Given the description of an element on the screen output the (x, y) to click on. 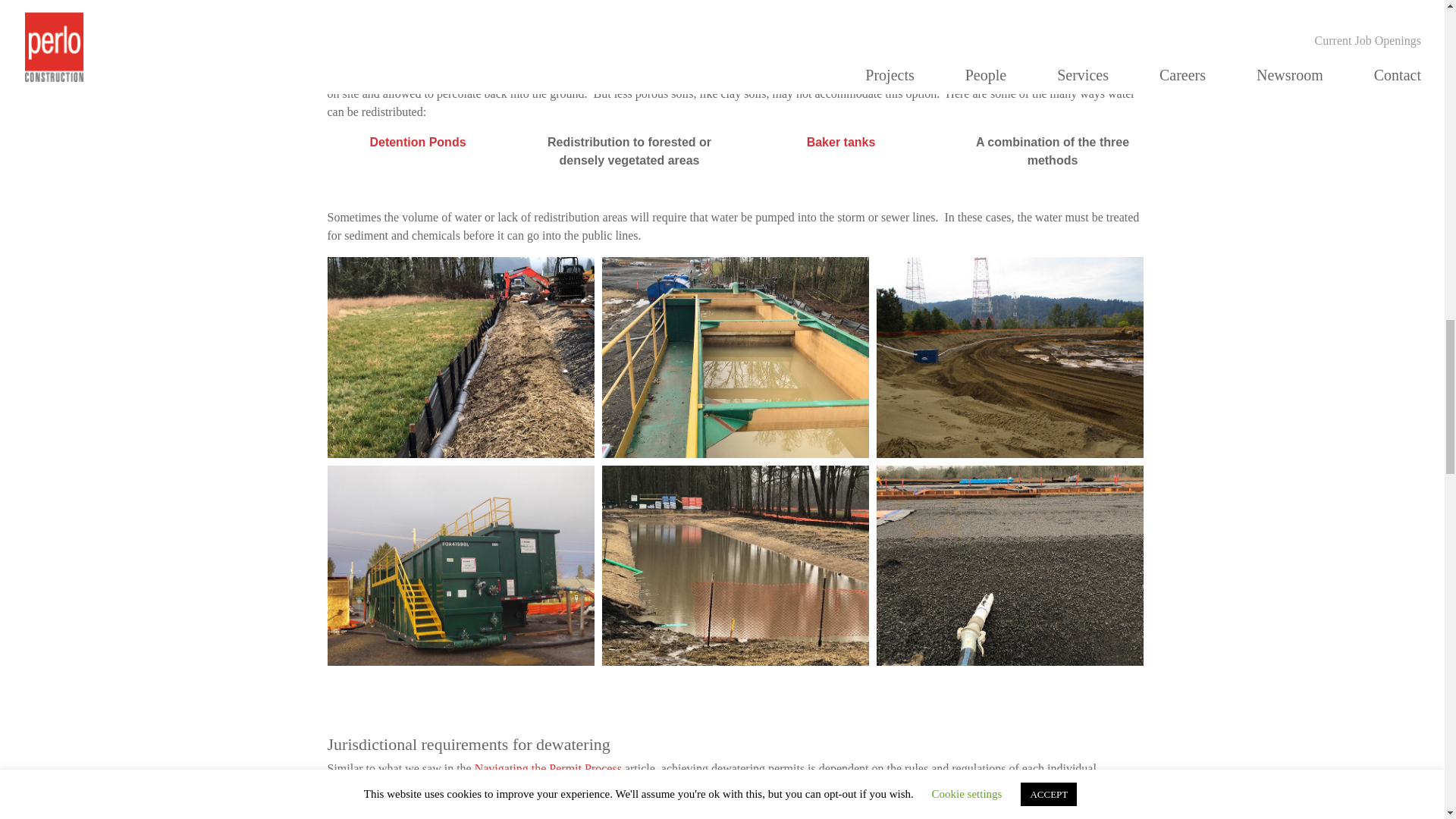
Detention Ponds (417, 141)
Baker tanks (841, 141)
Navigating the Permit Process (547, 768)
